Given the description of an element on the screen output the (x, y) to click on. 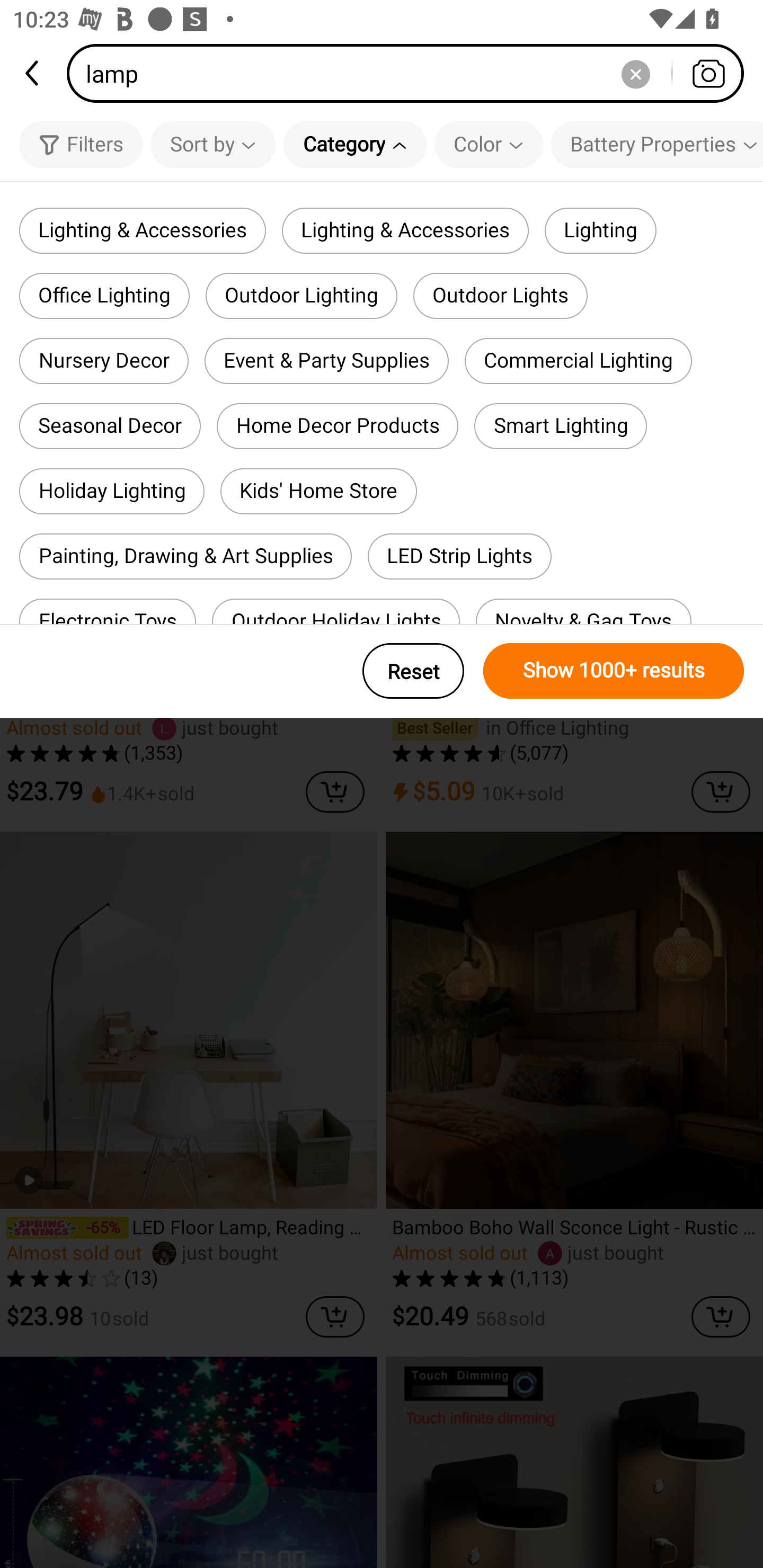
back (33, 72)
lamp (411, 73)
Delete search history (635, 73)
Search by photo (708, 73)
Filters (80, 143)
Sort by (212, 143)
Category (354, 143)
Color (488, 143)
Battery Properties (656, 143)
Lighting & Accessories (142, 230)
Lighting & Accessories (404, 230)
Lighting (600, 230)
Office Lighting (104, 295)
Outdoor Lighting (301, 295)
Outdoor Lights (500, 295)
Nursery Decor (103, 361)
Event & Party Supplies (326, 361)
Commercial Lighting (578, 361)
Seasonal Decor (109, 425)
Home Decor Products (337, 425)
Smart Lighting (560, 425)
Holiday Lighting (111, 491)
Kids' Home Store (318, 491)
Painting, Drawing & Art Supplies (185, 556)
LED Strip Lights (459, 556)
Reset (412, 670)
Show 1000+ results (612, 670)
